Given the description of an element on the screen output the (x, y) to click on. 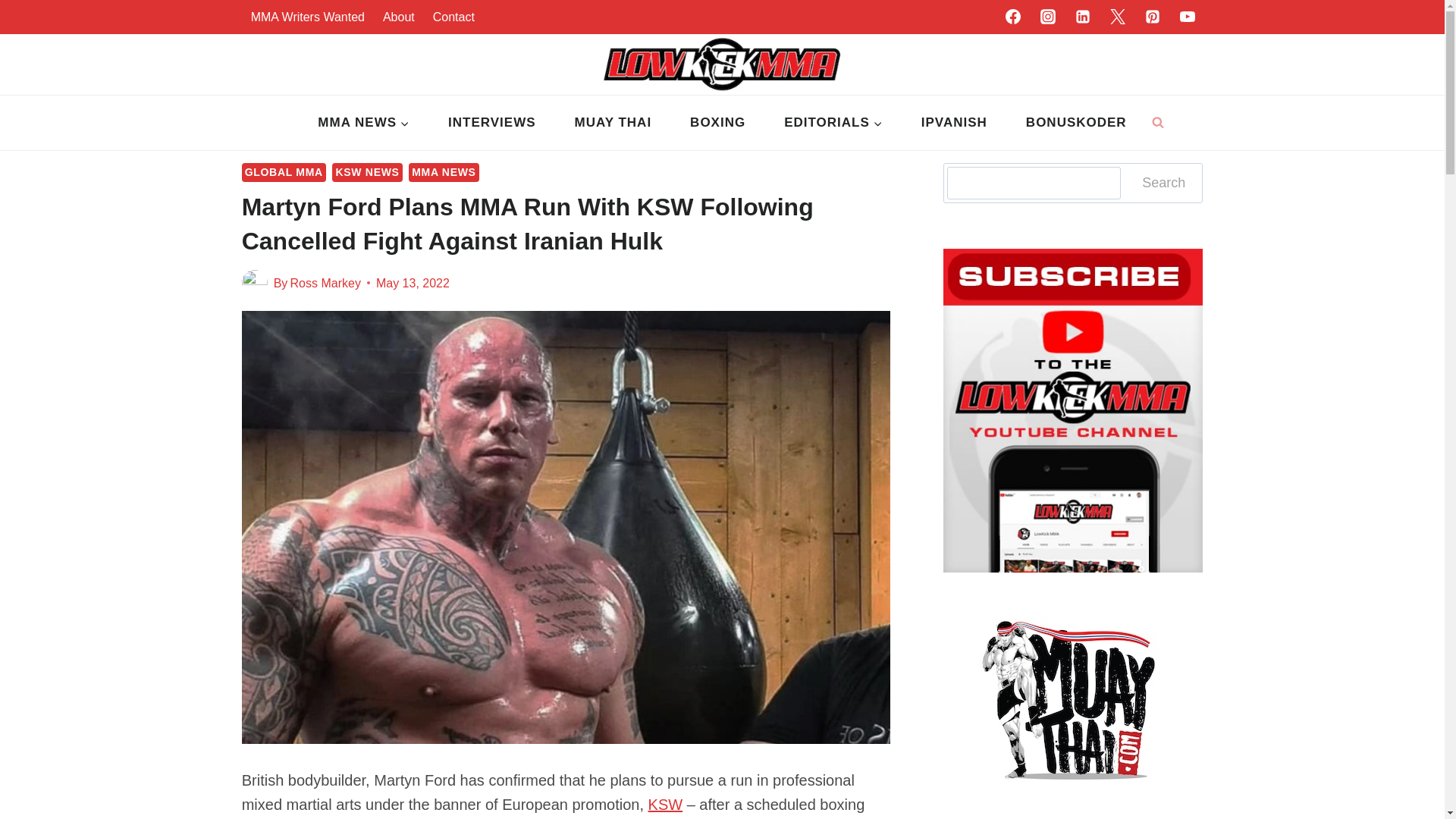
MUAY THAI (612, 122)
IPVANISH (953, 122)
BONUSKODER (1075, 122)
KSW (664, 804)
BOXING (718, 122)
INTERVIEWS (491, 122)
About (398, 17)
Contact (453, 17)
MMA Writers Wanted (307, 17)
MMA NEWS (363, 122)
EDITORIALS (833, 122)
